Given the description of an element on the screen output the (x, y) to click on. 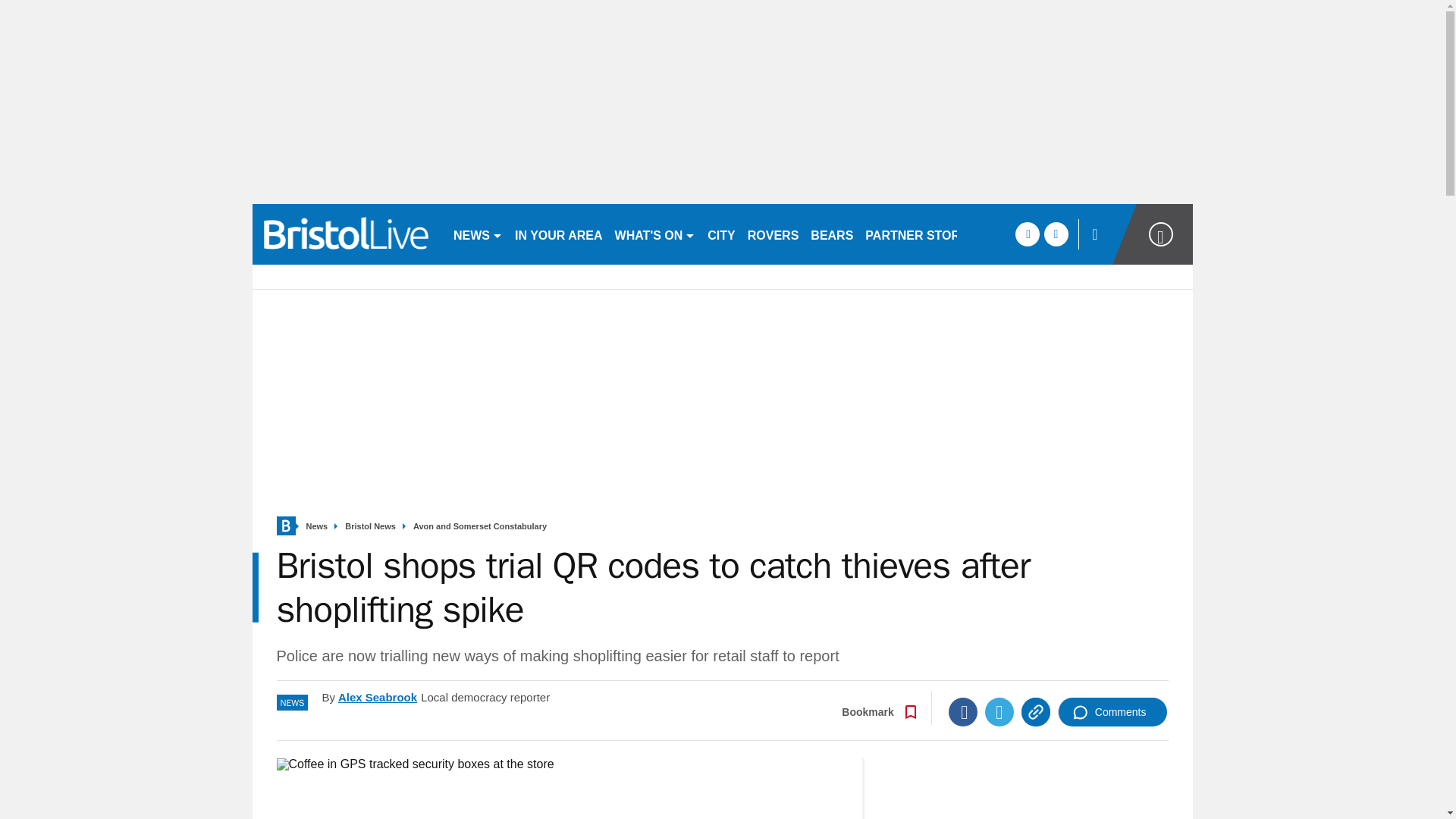
NEWS (477, 233)
bristolpost (345, 233)
twitter (1055, 233)
BEARS (832, 233)
Comments (1112, 711)
CITY (721, 233)
Twitter (999, 711)
PARTNER STORIES (922, 233)
IN YOUR AREA (558, 233)
facebook (1026, 233)
ROVERS (773, 233)
WHAT'S ON (654, 233)
Facebook (962, 711)
